Given the description of an element on the screen output the (x, y) to click on. 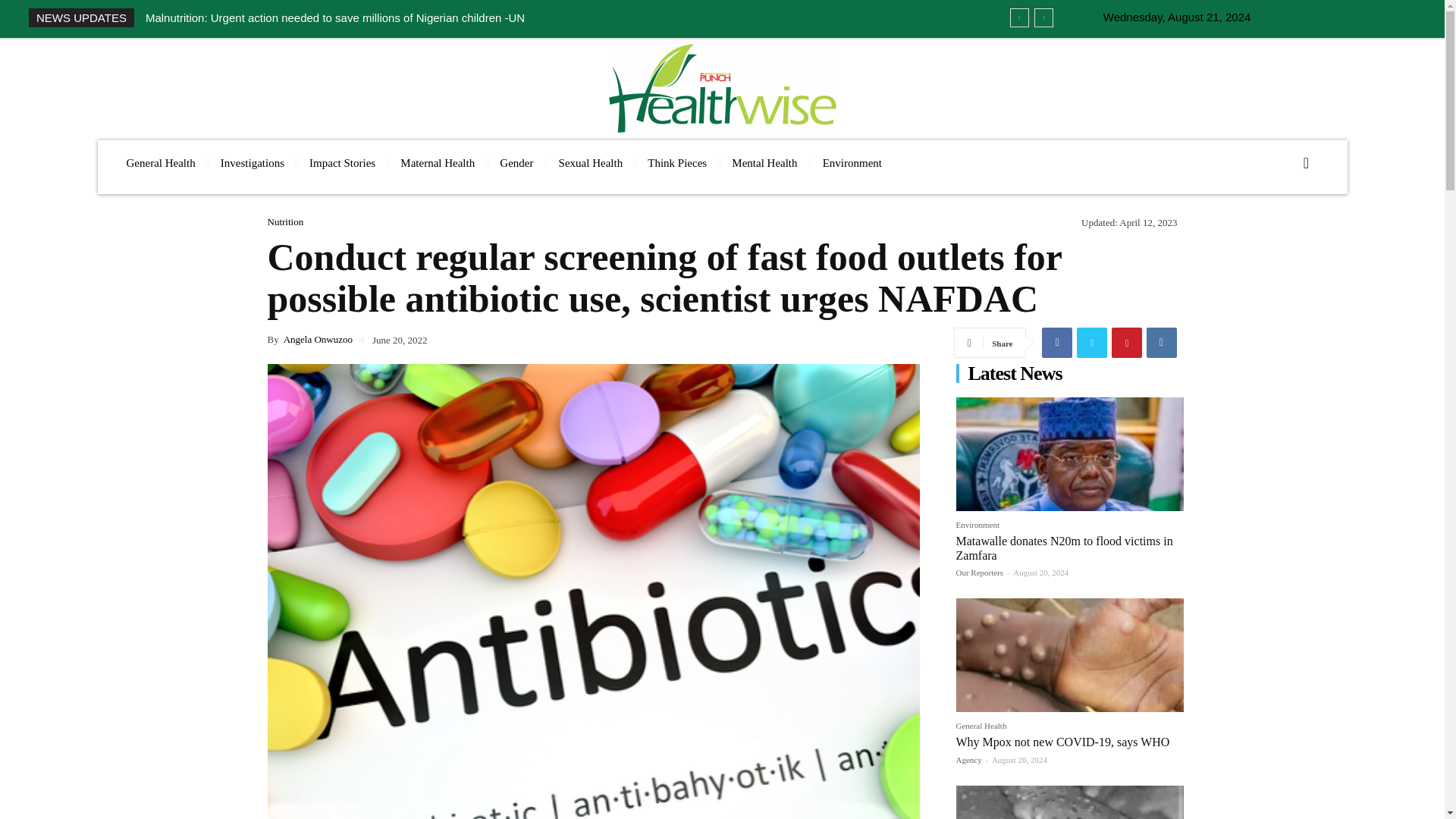
Investigations (252, 163)
General Health (160, 163)
